Given the description of an element on the screen output the (x, y) to click on. 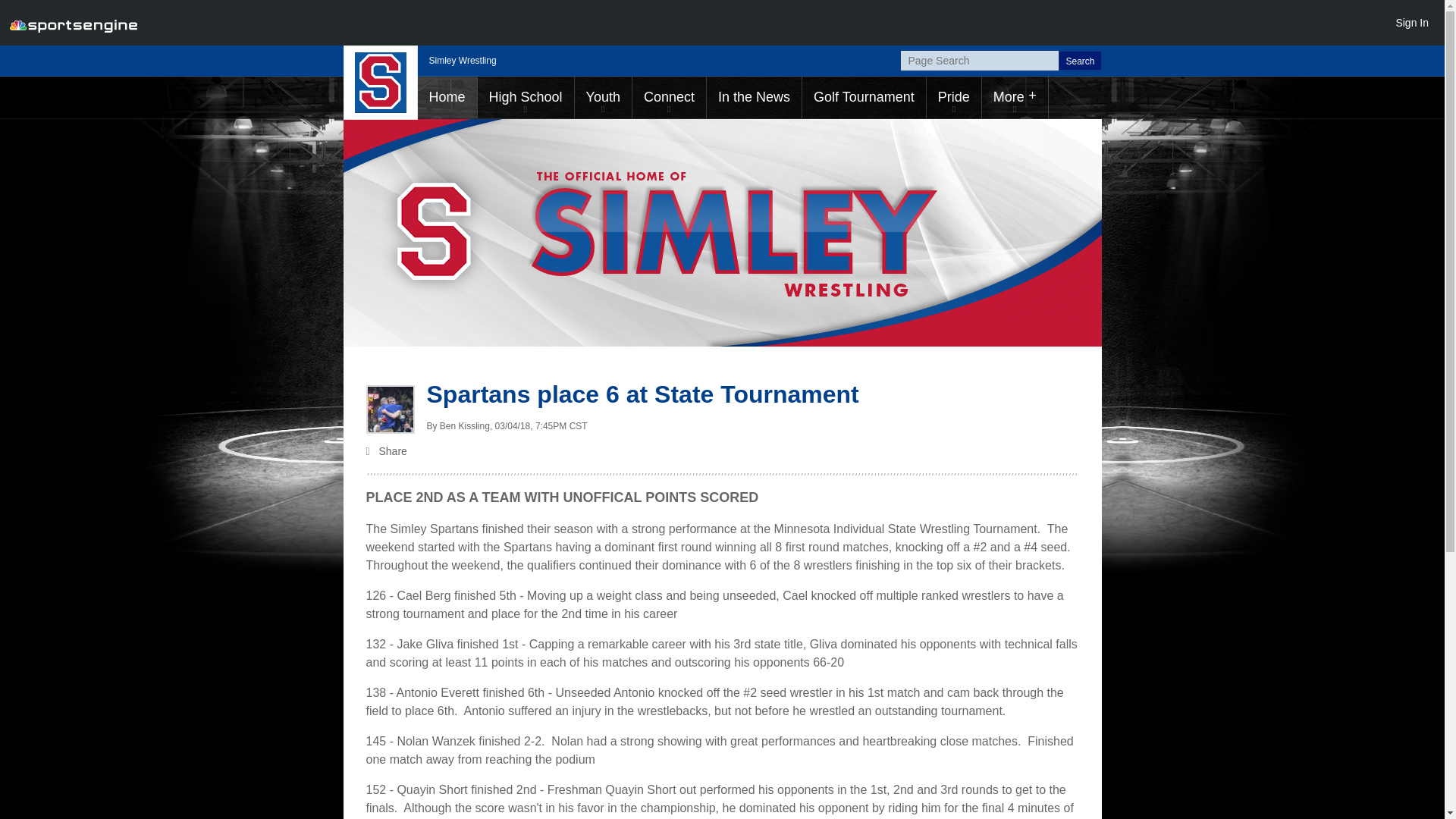
click to go to 'Pride' (953, 96)
click to go to 'Annual Simley Wrestling Golf Tournament' (864, 96)
Share (721, 452)
click to go to 'High School' (525, 96)
State12.jpg (389, 409)
High School (525, 96)
click to go to 'Connect' (668, 96)
Golf Tournament (864, 96)
click to go to 'Youth' (603, 96)
Youth (603, 96)
